Given the description of an element on the screen output the (x, y) to click on. 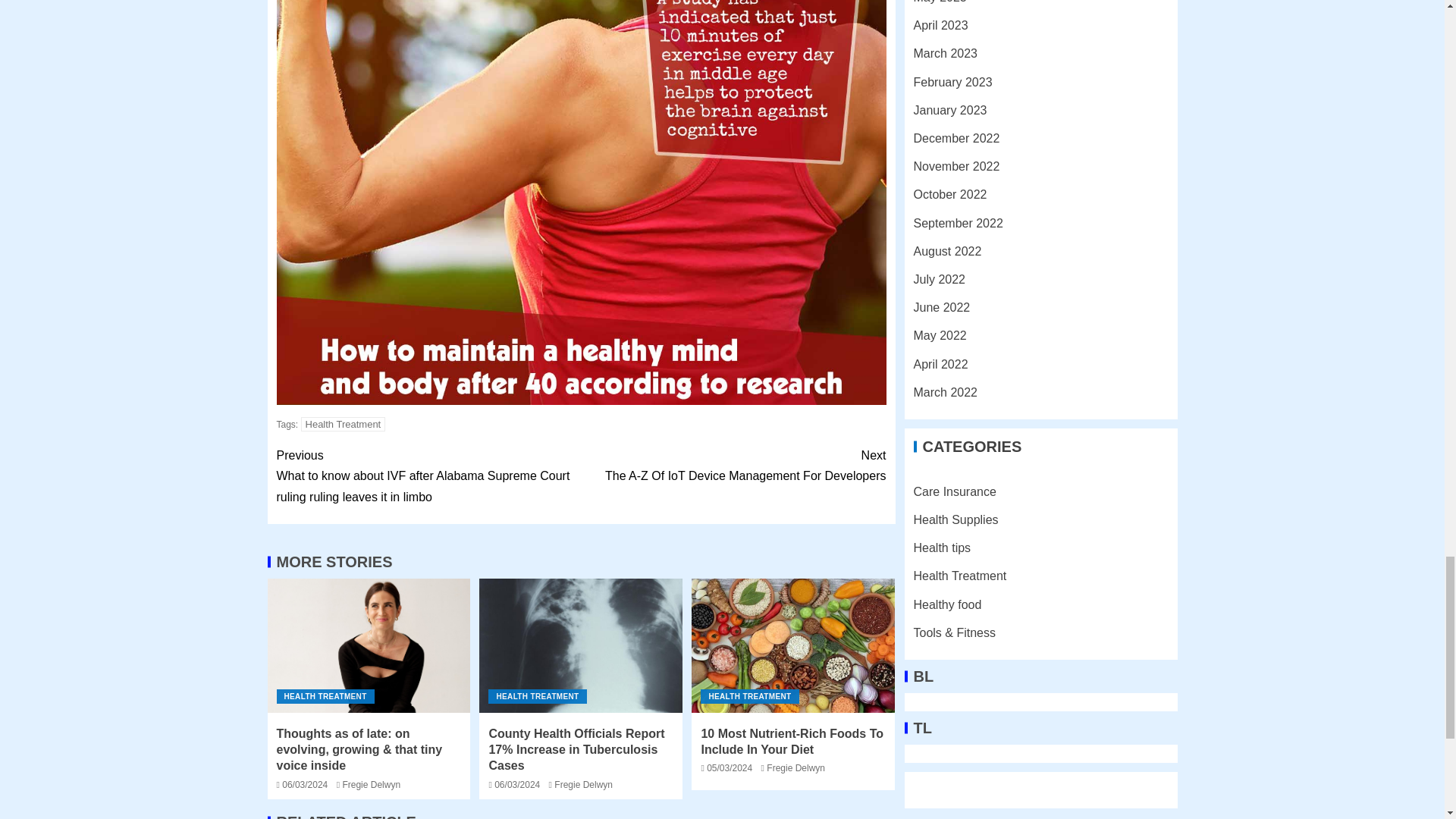
HEALTH TREATMENT (325, 696)
Fregie Delwyn (371, 784)
10 Most Nutrient-Rich Foods To Include In Your Diet (793, 645)
HEALTH TREATMENT (536, 696)
Health Treatment (732, 465)
